Given the description of an element on the screen output the (x, y) to click on. 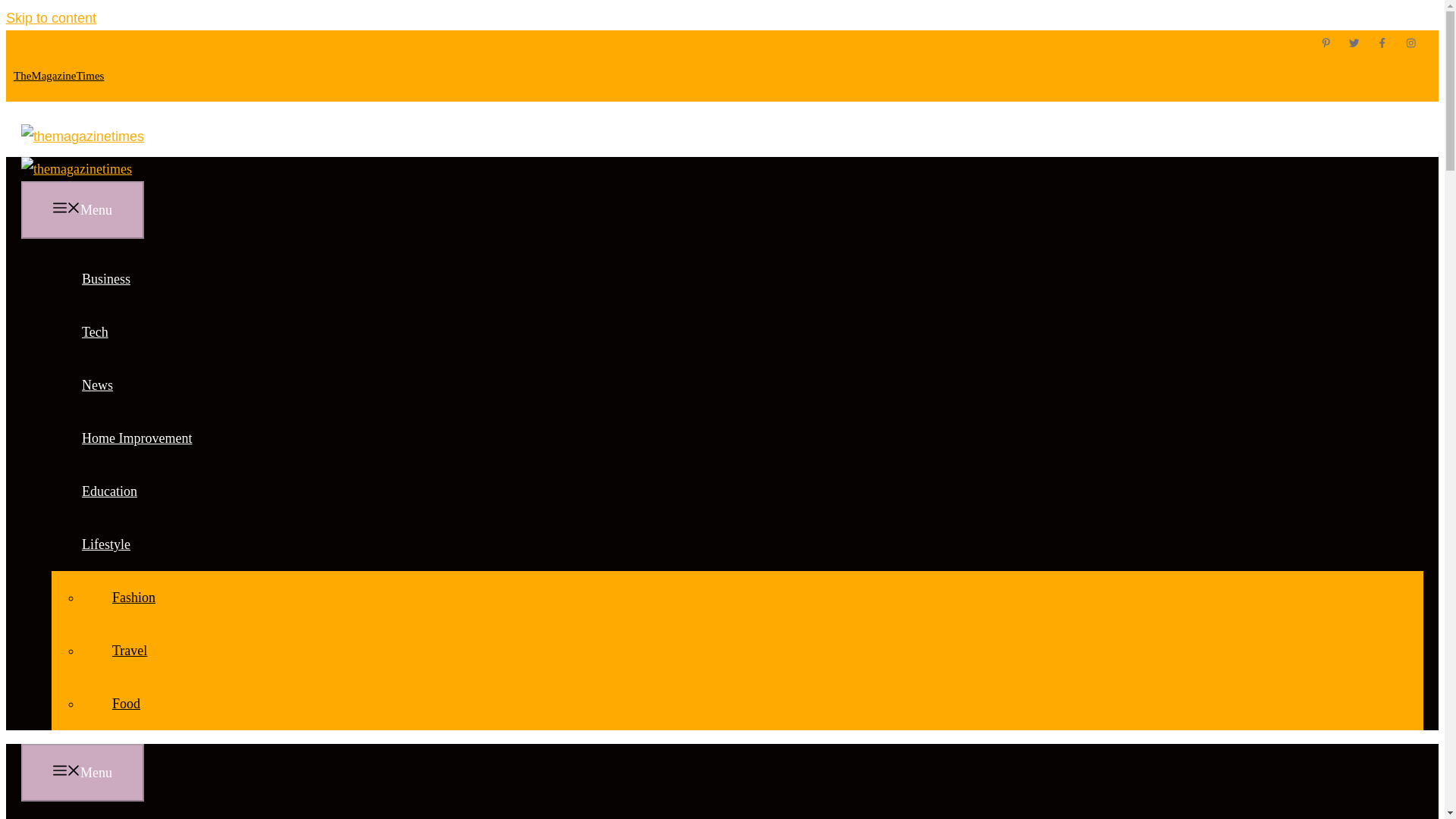
Fashion (133, 596)
Home Improvement (136, 437)
Education (108, 491)
TheMagazineTimes (58, 75)
Skip to content (50, 17)
Business (105, 278)
Lifestyle (127, 544)
themagazinetimes (76, 168)
Menu (82, 209)
Skip to content (50, 17)
